Given the description of an element on the screen output the (x, y) to click on. 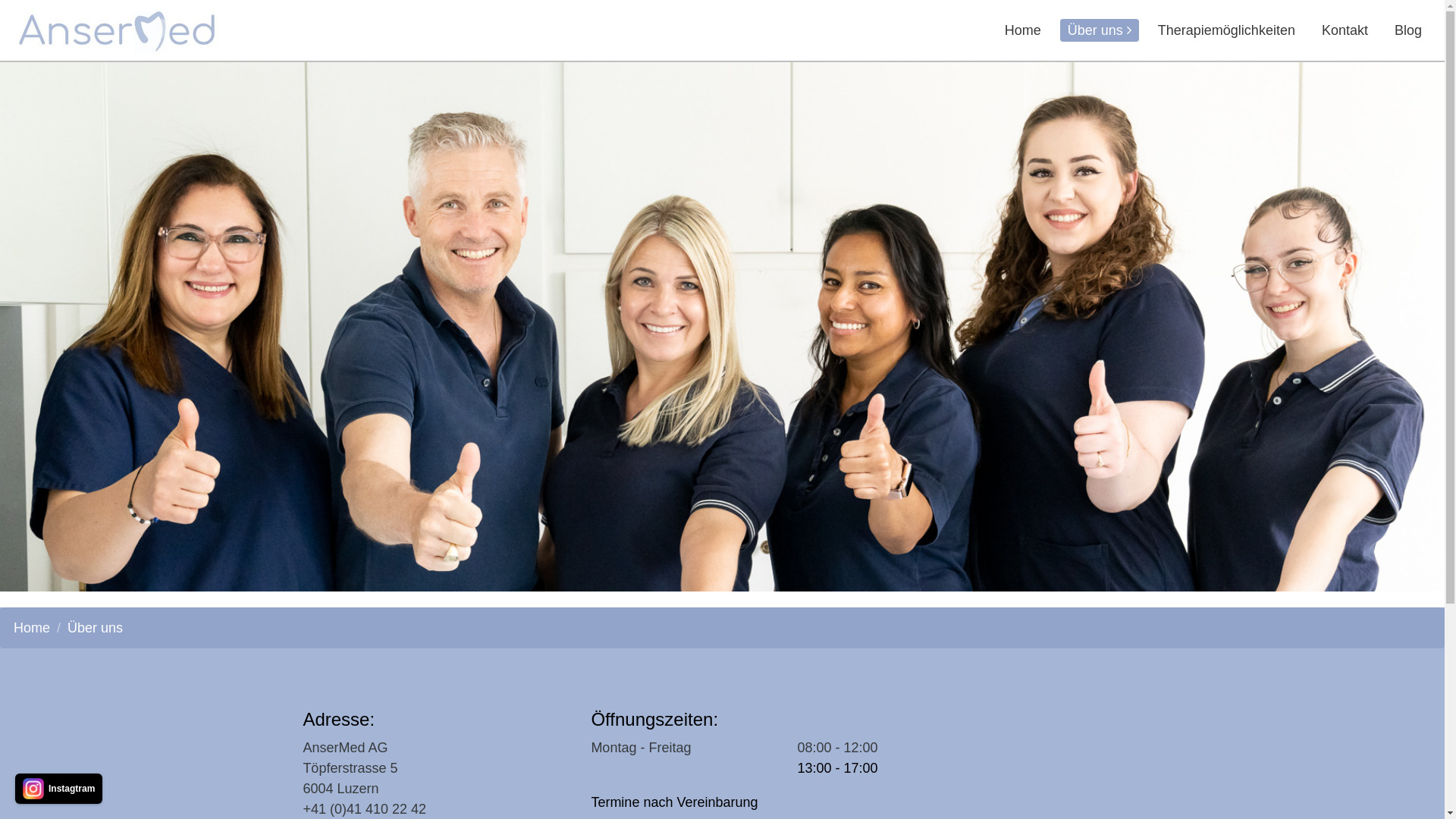
Blog Element type: text (1407, 29)
Home Element type: text (31, 627)
Kontakt Element type: text (1344, 29)
Home Element type: text (1022, 29)
